Given the description of an element on the screen output the (x, y) to click on. 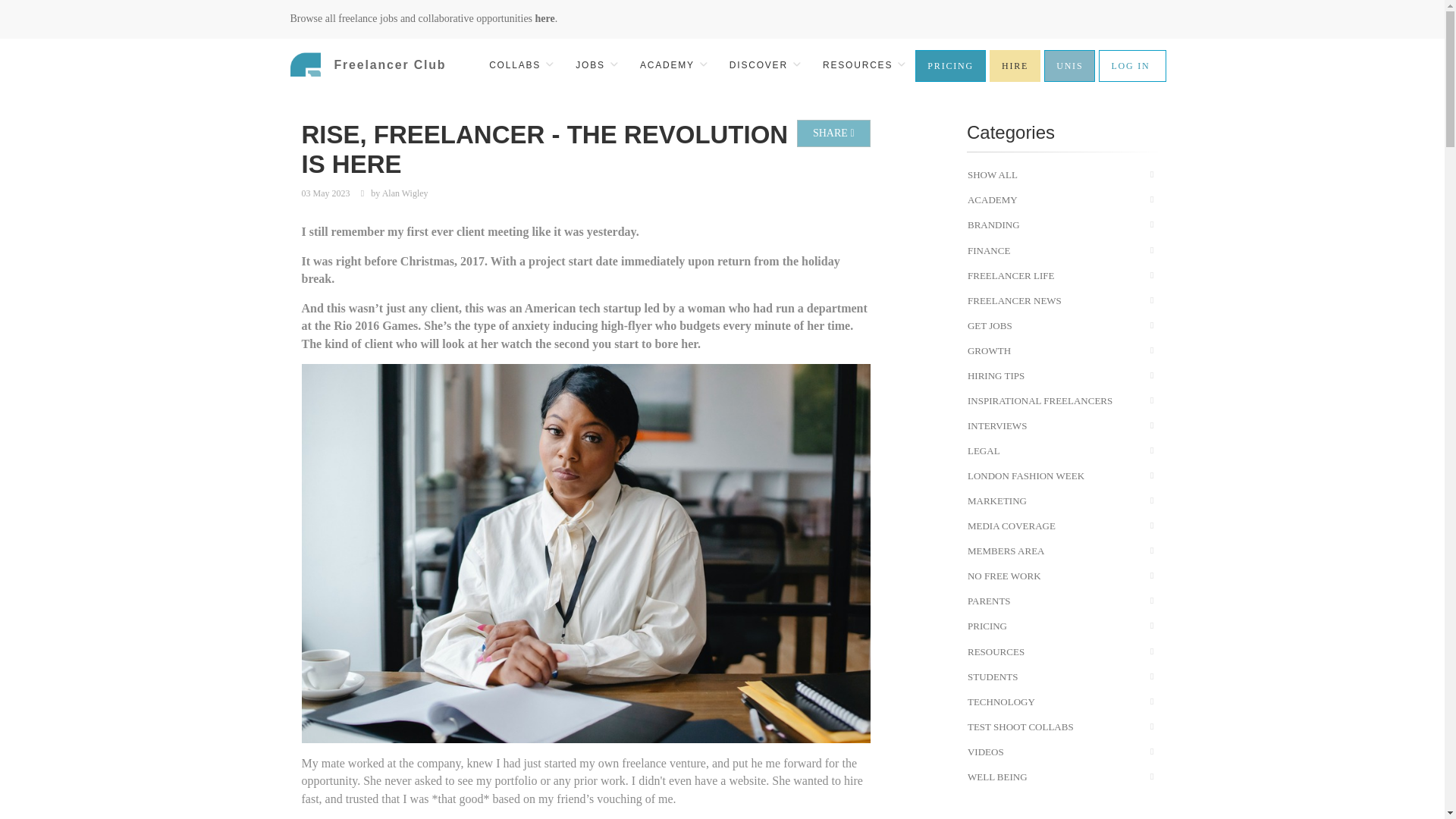
ACADEMY (672, 65)
JOBS (595, 65)
COLLABS (520, 65)
Freelancer Club (362, 66)
